Given the description of an element on the screen output the (x, y) to click on. 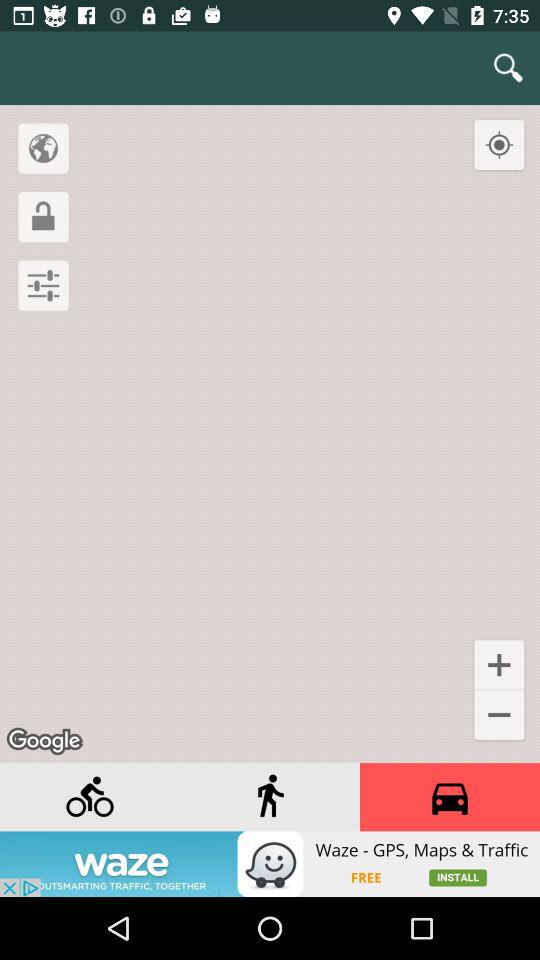
advertisement (450, 797)
